Given the description of an element on the screen output the (x, y) to click on. 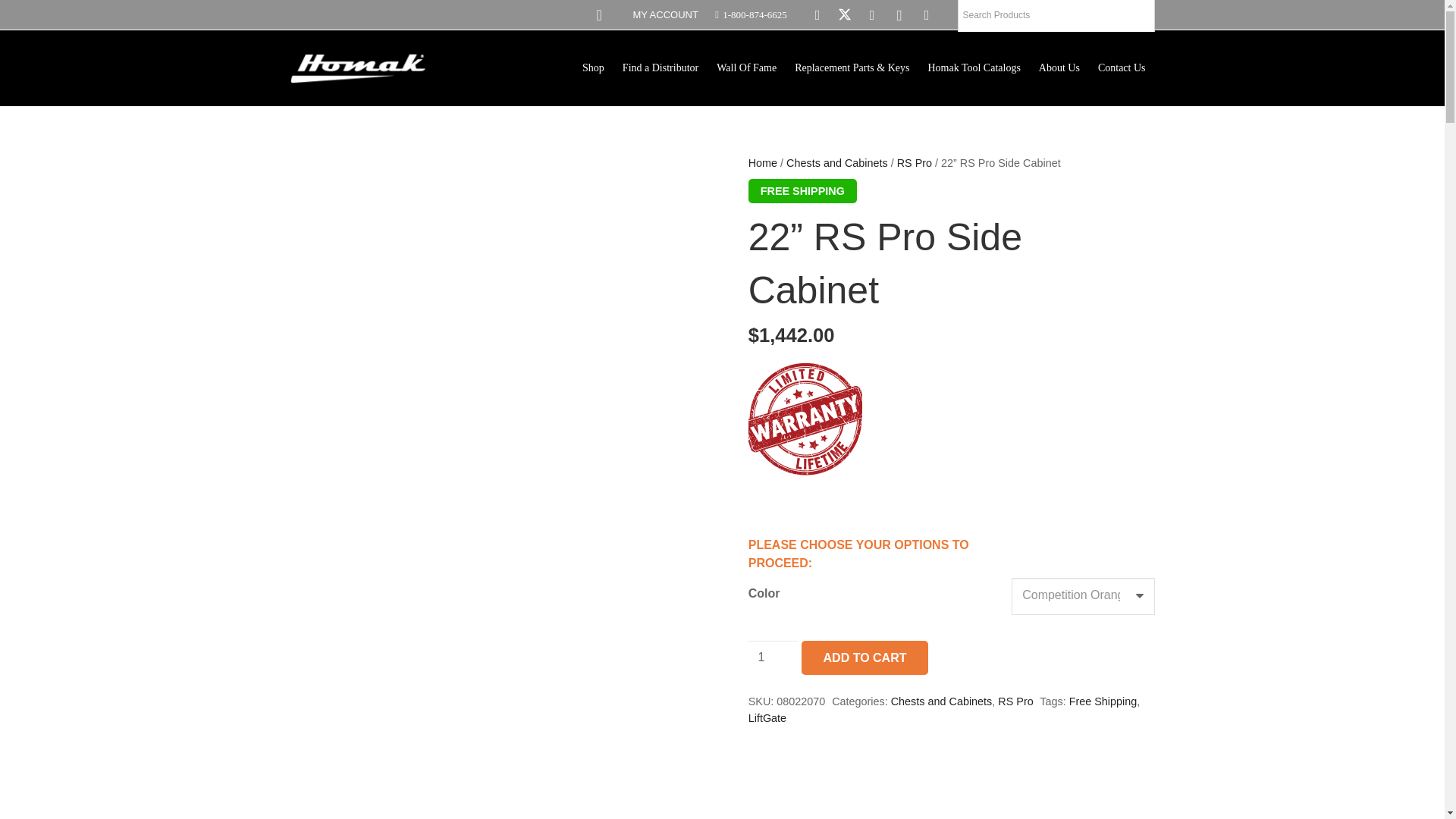
Twitter (845, 14)
Shop (592, 67)
MY ACCOUNT (664, 14)
Facebook (817, 14)
1-800-874-6625 (750, 14)
LinkedIn (926, 14)
1 (772, 657)
YouTube (872, 14)
Instagram (898, 14)
